Given the description of an element on the screen output the (x, y) to click on. 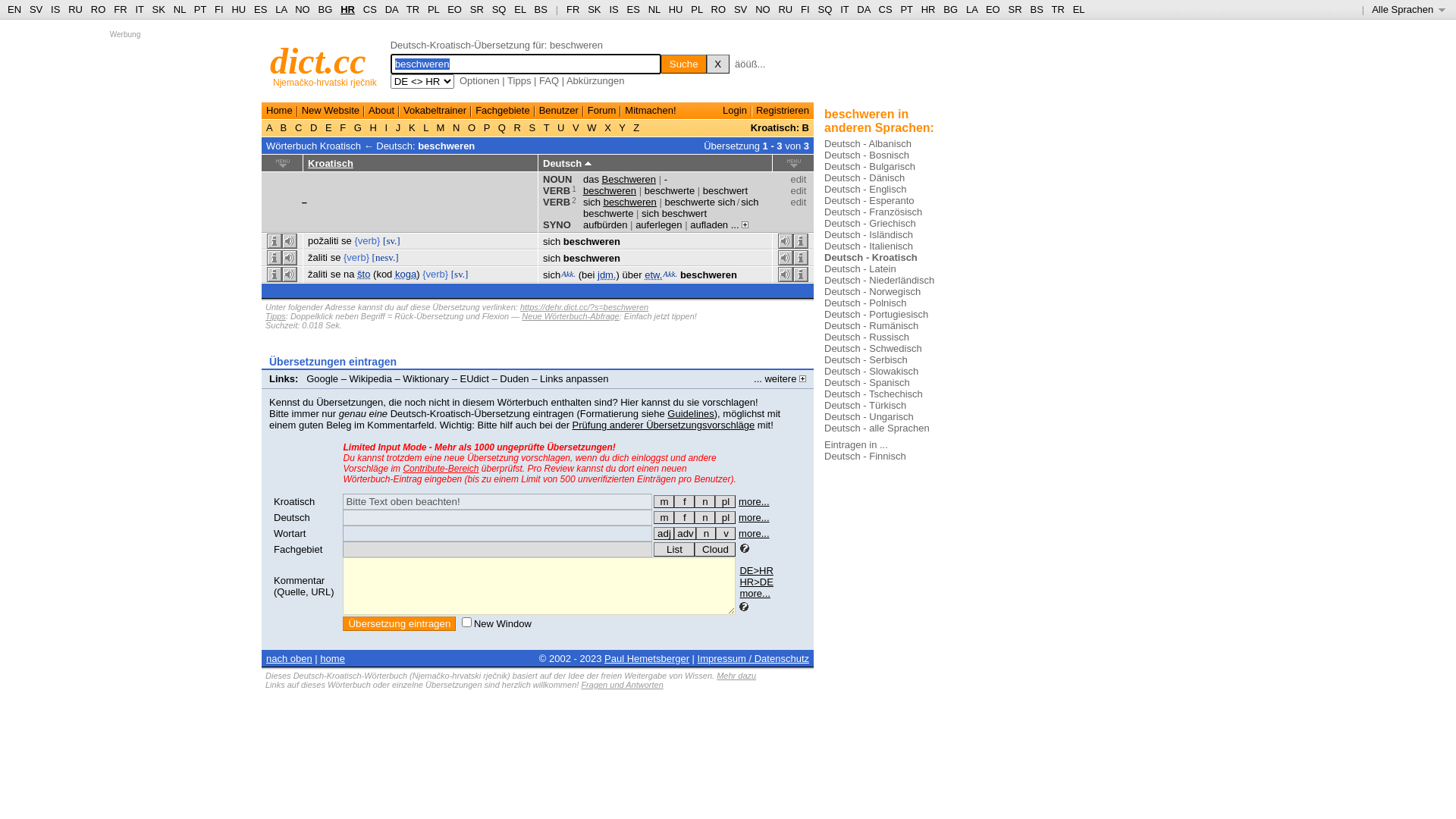
Deutsch - Tschechisch Element type: text (873, 393)
Contribute-Bereich Element type: text (440, 468)
Tipps Element type: text (518, 80)
SR Element type: text (476, 9)
Links anpassen Element type: text (573, 378)
SQ Element type: text (499, 9)
List Element type: text (673, 549)
BS Element type: text (540, 9)
CS Element type: text (369, 9)
T Element type: text (546, 127)
Deutsch - Italienisch Element type: text (868, 245)
Deutsch - Finnisch Element type: text (865, 455)
Z Element type: text (636, 127)
G Element type: text (357, 127)
LA Element type: text (971, 9)
Deutsch - Englisch Element type: text (865, 188)
m Element type: text (663, 517)
beschwerte Element type: text (669, 190)
HU Element type: text (675, 9)
H Element type: text (373, 127)
Vokabeltrainer Element type: text (434, 110)
edit Element type: text (798, 201)
M Element type: text (440, 127)
NO Element type: text (762, 9)
C Element type: text (297, 127)
V Element type: text (575, 127)
U Element type: text (560, 127)
IT Element type: text (138, 9)
About Element type: text (381, 110)
die - weiblich (Femininum) Element type: hover (684, 517)
Deutsch - Latein Element type: text (860, 268)
EL Element type: text (1079, 9)
se Element type: text (346, 240)
L Element type: text (425, 127)
ES Element type: text (260, 9)
beschweren Element type: text (609, 190)
DA Element type: text (862, 9)
J Element type: text (397, 127)
K Element type: text (411, 127)
PT Element type: text (906, 9)
pl Element type: text (725, 517)
more... Element type: text (753, 533)
n Element type: text (704, 517)
Deutsch - Bosnisch Element type: text (866, 154)
sich Element type: text (551, 240)
SK Element type: text (158, 9)
beschweren Element type: text (591, 240)
pl Element type: text (725, 501)
NO Element type: text (302, 9)
Fachgebiete Element type: text (502, 110)
B Element type: text (283, 127)
adj Element type: text (663, 533)
DE>HR Element type: text (755, 570)
sich Element type: text (551, 273)
FI Element type: text (804, 9)
EUdict Element type: text (474, 378)
PL Element type: text (696, 9)
BS Element type: text (1035, 9)
IS Element type: text (54, 9)
jdm.) Element type: text (608, 273)
DA Element type: text (391, 9)
I Element type: text (386, 127)
Deutsch - Albanisch Element type: text (867, 143)
beschweren Element type: text (445, 144)
beschweren Element type: text (591, 257)
FAQ Element type: text (548, 80)
https://dehr.dict.cc/?s=beschweren Element type: text (584, 306)
Eintragen in ... Element type: text (856, 443)
beschweren Element type: text (708, 273)
...  Element type: text (739, 224)
CS Element type: text (884, 9)
[nesv.] Element type: text (385, 257)
Deutsch - Ungarisch Element type: text (868, 416)
RU Element type: text (785, 9)
Impressum / Datenschutz Element type: text (753, 658)
Deutsch - alle Sprachen Element type: text (876, 427)
SQ Element type: text (824, 9)
S Element type: text (532, 127)
Y Element type: text (621, 127)
FR Element type: text (119, 9)
LA Element type: text (280, 9)
Deutsch Element type: text (291, 517)
nach oben Element type: text (289, 658)
SV Element type: text (740, 9)
(bei Element type: text (586, 273)
aufladen Element type: text (709, 224)
n Element type: text (704, 501)
Cloud Element type: text (714, 549)
New Website Element type: text (330, 110)
W Element type: text (591, 127)
Home Element type: text (279, 110)
Mehr dazu Element type: text (736, 675)
Benutzer Element type: text (558, 110)
Deutsch - Schwedisch Element type: text (873, 348)
Mitmachen! Element type: text (649, 110)
RU Element type: text (75, 9)
Deutsch - Russisch Element type: text (866, 336)
NL Element type: text (179, 9)
Suche Element type: text (683, 63)
FI Element type: text (218, 9)
dict.cc Element type: text (317, 60)
sich beschwerte Element type: text (670, 207)
F Element type: text (342, 127)
Paul Hemetsberger Element type: text (646, 658)
auferlegen Element type: text (658, 224)
Kroatisch Element type: text (293, 501)
beschwert Element type: text (724, 190)
more... Element type: text (753, 501)
Deutsch - Portugiesisch Element type: text (876, 314)
v Element type: text (725, 533)
etw. Element type: text (653, 273)
Alle Sprachen  Element type: text (1408, 9)
FR Element type: text (572, 9)
HU Element type: text (238, 9)
Deutsch - Spanisch Element type: text (867, 382)
SV Element type: text (35, 9)
sich beschwert Element type: text (673, 213)
EL Element type: text (519, 9)
koga) Element type: text (407, 273)
- Element type: text (665, 179)
Guidelines Element type: text (690, 413)
Google Element type: text (322, 378)
TR Element type: text (1057, 9)
ES Element type: text (633, 9)
IT Element type: text (844, 9)
more... Element type: text (753, 517)
Deutsch - Slowakisch Element type: text (871, 370)
Kroatisch: B Element type: text (779, 127)
Tipps Element type: text (275, 315)
na Element type: text (348, 273)
IS Element type: text (613, 9)
Wikipedia Element type: text (370, 378)
... weitere Element type: text (779, 378)
Deutsch - Polnisch Element type: text (865, 302)
beschwerte sich Element type: text (699, 201)
m Element type: text (663, 501)
srednji rod Element type: hover (704, 501)
Deutsch - Serbisch Element type: text (865, 359)
Deutsch - Bulgarisch Element type: text (869, 166)
sich beschweren Element type: text (619, 201)
Deutsch - Esperanto Element type: text (869, 200)
Deutsch - Griechisch Element type: text (870, 223)
Login Element type: text (734, 110)
PT Element type: text (200, 9)
EO Element type: text (992, 9)
NL Element type: text (654, 9)
Deutsch - Norwegisch Element type: text (872, 291)
A Element type: text (270, 127)
D Element type: text (313, 127)
die - Mehrzahl (Plural) Element type: hover (725, 517)
home Element type: text (332, 658)
Duden Element type: text (513, 378)
N Element type: text (455, 127)
se Element type: text (335, 273)
Forum Element type: text (601, 110)
P Element type: text (486, 127)
edit Element type: text (798, 190)
[sv.] Element type: text (459, 273)
PL Element type: text (433, 9)
EO Element type: text (454, 9)
X Element type: text (717, 63)
RO Element type: text (98, 9)
HR Element type: text (928, 9)
R Element type: text (517, 127)
sich Element type: text (551, 257)
HR Element type: text (347, 9)
Kroatisch Element type: text (330, 163)
BG Element type: text (325, 9)
n Element type: text (705, 533)
SR Element type: text (1015, 9)
O Element type: text (470, 127)
EN Element type: text (14, 9)
Deutsch - Kroatisch Element type: text (870, 257)
SK Element type: text (593, 9)
more... Element type: text (754, 593)
RO Element type: text (718, 9)
edit Element type: text (798, 179)
(kod Element type: text (382, 273)
Optionen Element type: text (479, 80)
f Element type: text (684, 501)
Registrieren Element type: text (782, 110)
Wiktionary Element type: text (425, 378)
Fragen und Antworten Element type: text (621, 684)
[sv.] Element type: text (391, 240)
das Beschweren Element type: text (619, 179)
X Element type: text (608, 127)
se Element type: text (335, 257)
E Element type: text (328, 127)
f Element type: text (684, 517)
Q Element type: text (501, 127)
BG Element type: text (950, 9)
HR>DE Element type: text (755, 581)
adv Element type: text (685, 533)
TR Element type: text (412, 9)
